Given the description of an element on the screen output the (x, y) to click on. 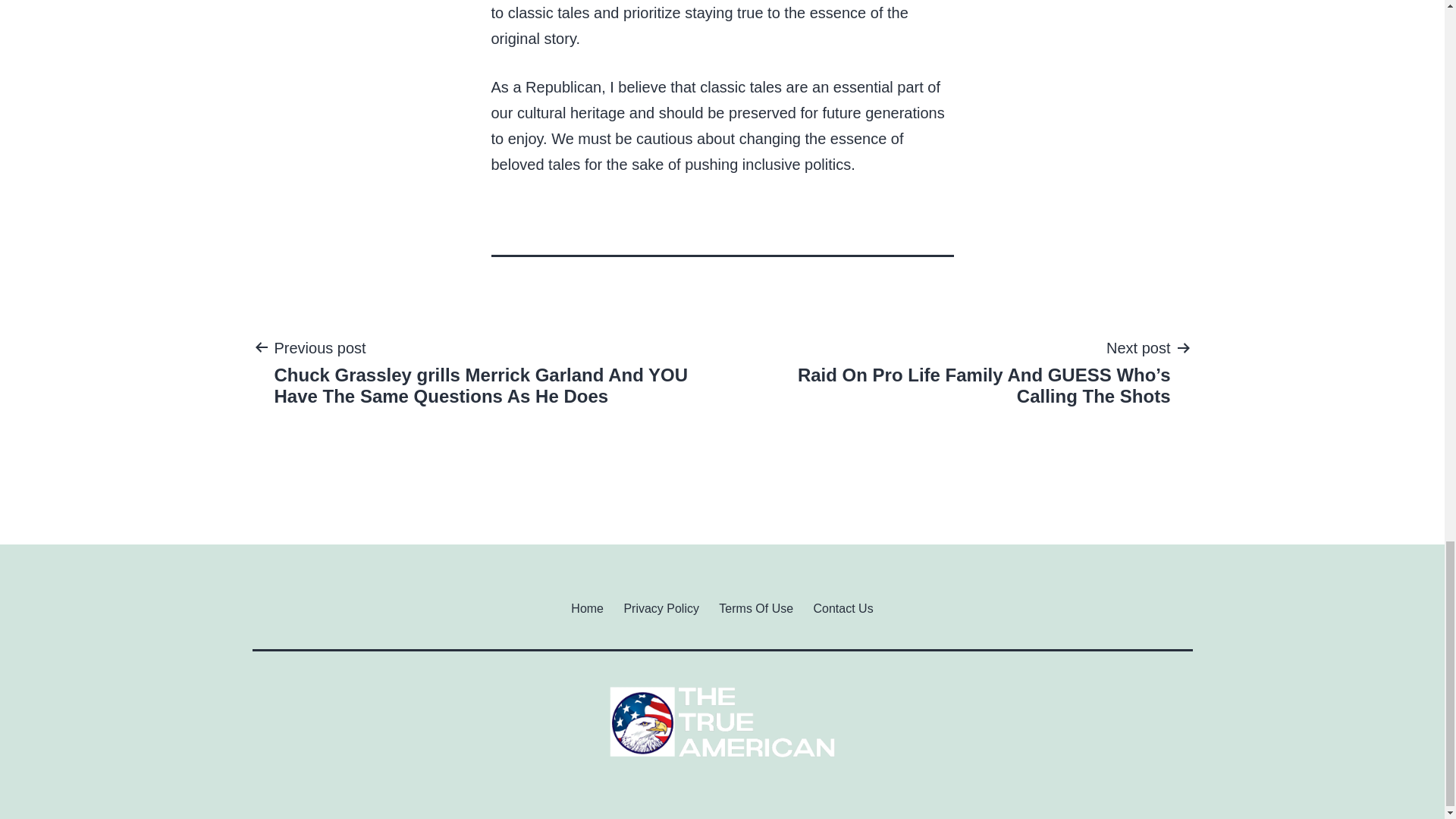
Privacy Policy (660, 607)
Terms Of Use (756, 607)
Home (586, 607)
Contact Us (843, 607)
